Given the description of an element on the screen output the (x, y) to click on. 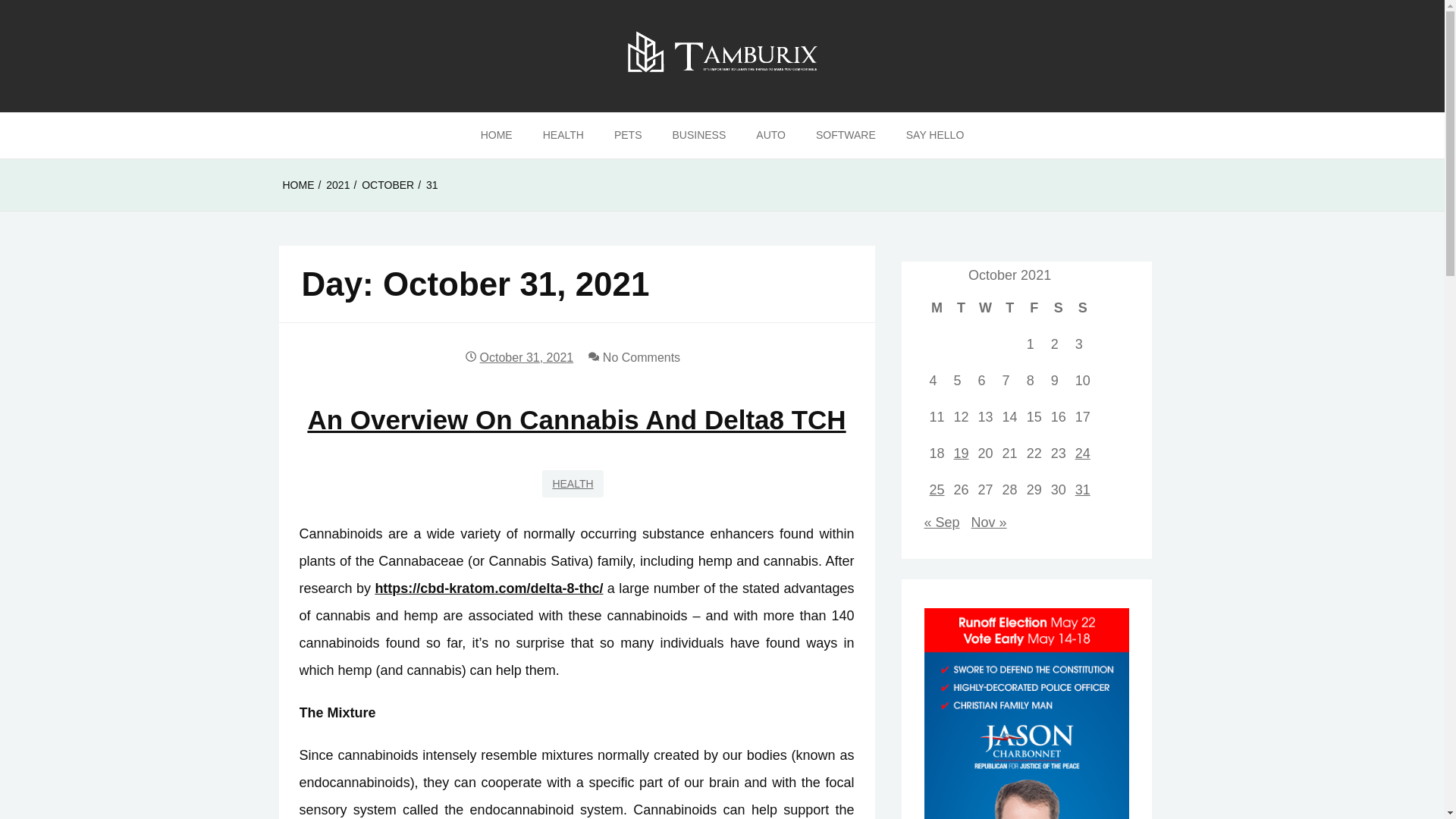
BUSINESS (698, 135)
OCTOBER (387, 185)
HOME (298, 185)
SAY HELLO (935, 135)
Tamburix (73, 137)
AUTO (770, 135)
HOME (496, 135)
2021 (337, 185)
HEALTH (562, 135)
PETS (628, 135)
